Given the description of an element on the screen output the (x, y) to click on. 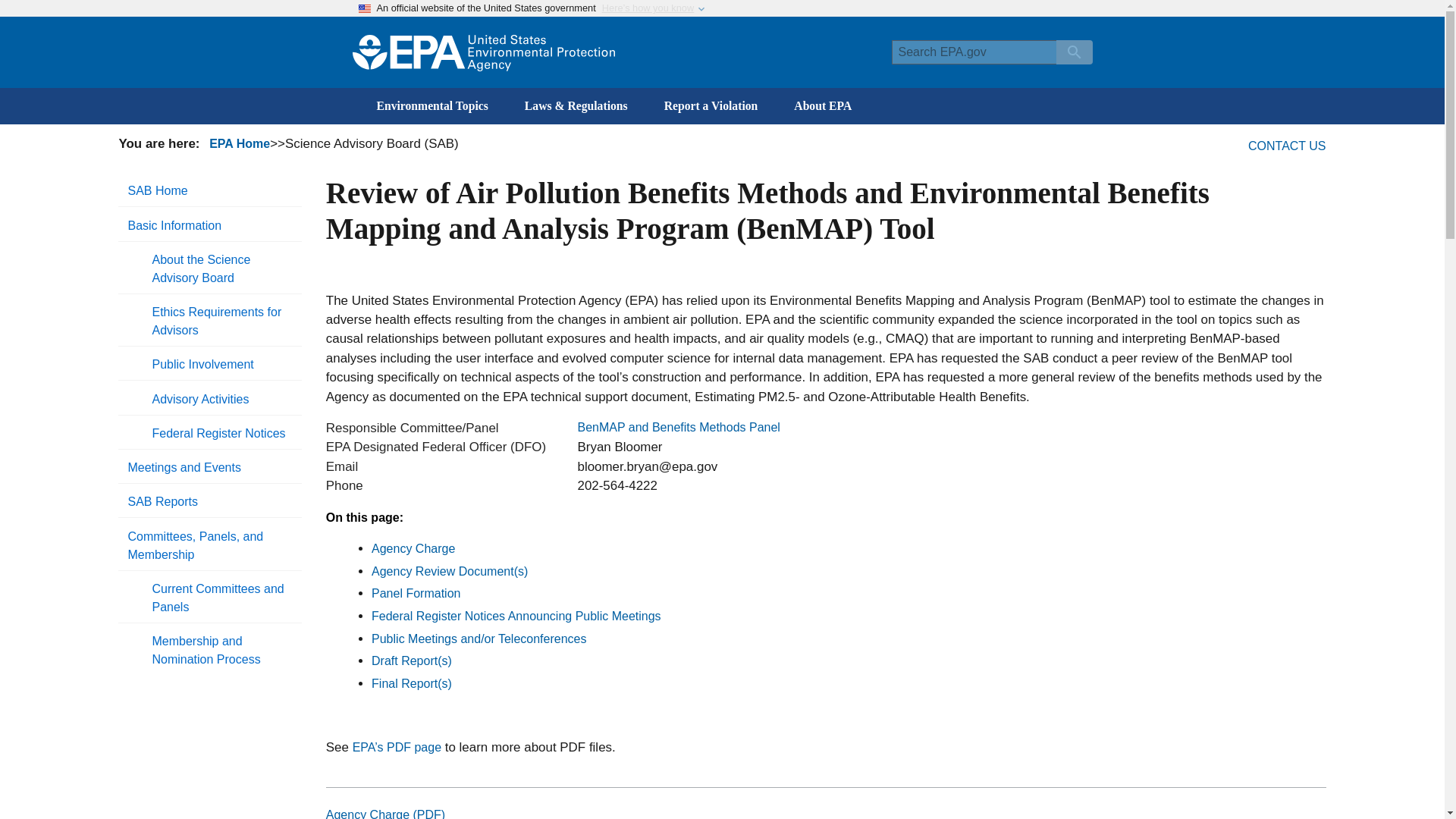
Meetings and Events (209, 467)
Public Involvement (221, 364)
Advisory Activities (221, 399)
On this page: (364, 517)
Federal Register Notices (221, 433)
Federal Register Notices Announcing Public Meetings (516, 615)
Panel Formation (415, 593)
Current Committees and Panels (221, 598)
EPA Home (239, 143)
About EPA (822, 105)
BenMAP and Benefits Methods Panel (677, 427)
Agency Charge (412, 548)
About the Science Advisory Board (221, 268)
Environmental Topics (431, 105)
CONTACT US (1286, 145)
